Given the description of an element on the screen output the (x, y) to click on. 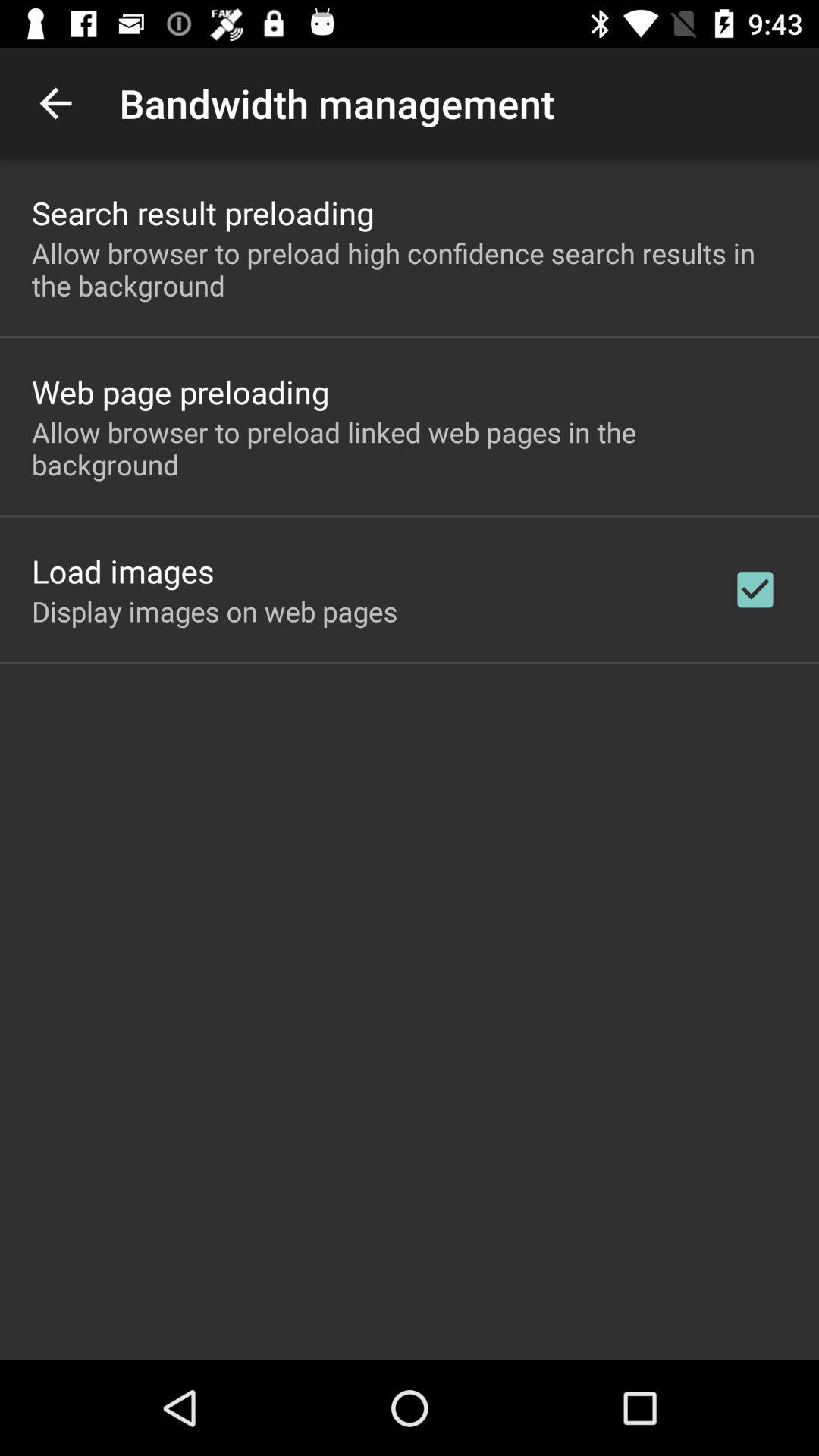
choose icon on the right (755, 589)
